Given the description of an element on the screen output the (x, y) to click on. 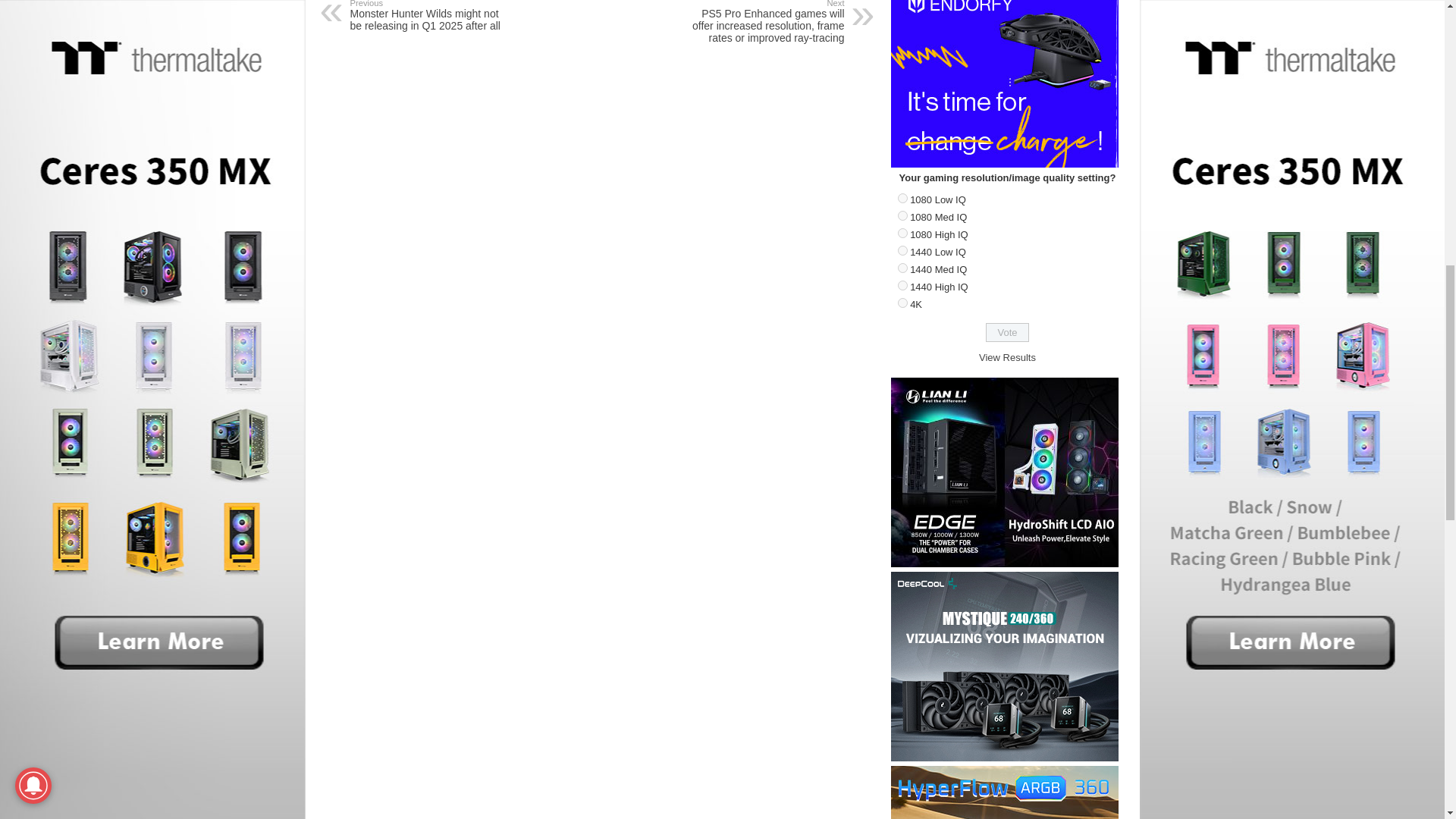
1381 (902, 233)
1383 (902, 267)
1379 (902, 198)
1385 (902, 302)
1382 (902, 250)
View Results Of This Poll (1006, 357)
1384 (902, 285)
   Vote    (1007, 332)
1380 (902, 215)
